Given the description of an element on the screen output the (x, y) to click on. 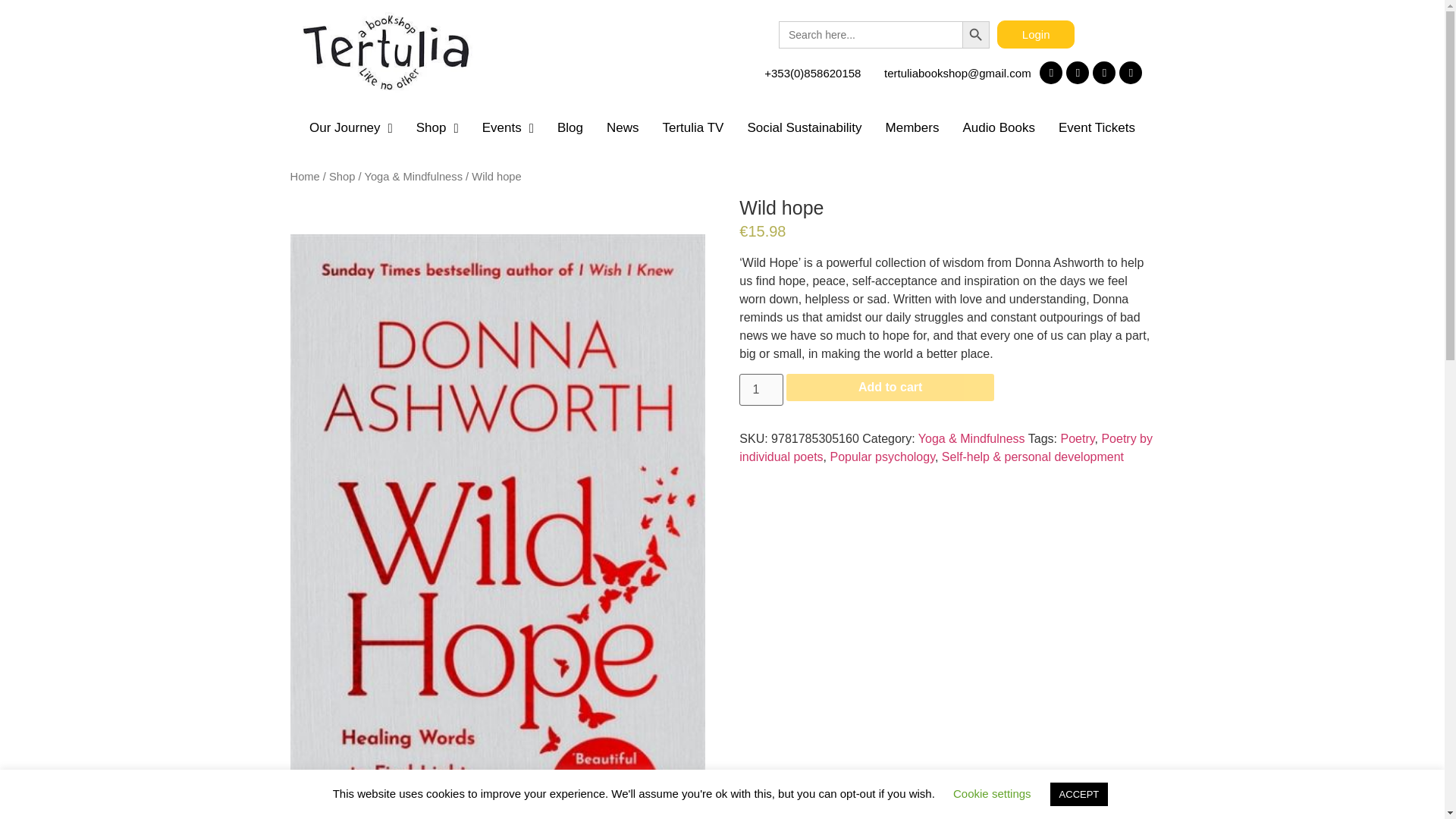
News (622, 127)
Our Journey (350, 127)
Social Sustainability (804, 127)
Tertulia TV (692, 127)
Login (1035, 34)
Events (507, 127)
Shop (437, 127)
Search Button (976, 34)
1 (761, 389)
Blog (569, 127)
Members (911, 127)
